Given the description of an element on the screen output the (x, y) to click on. 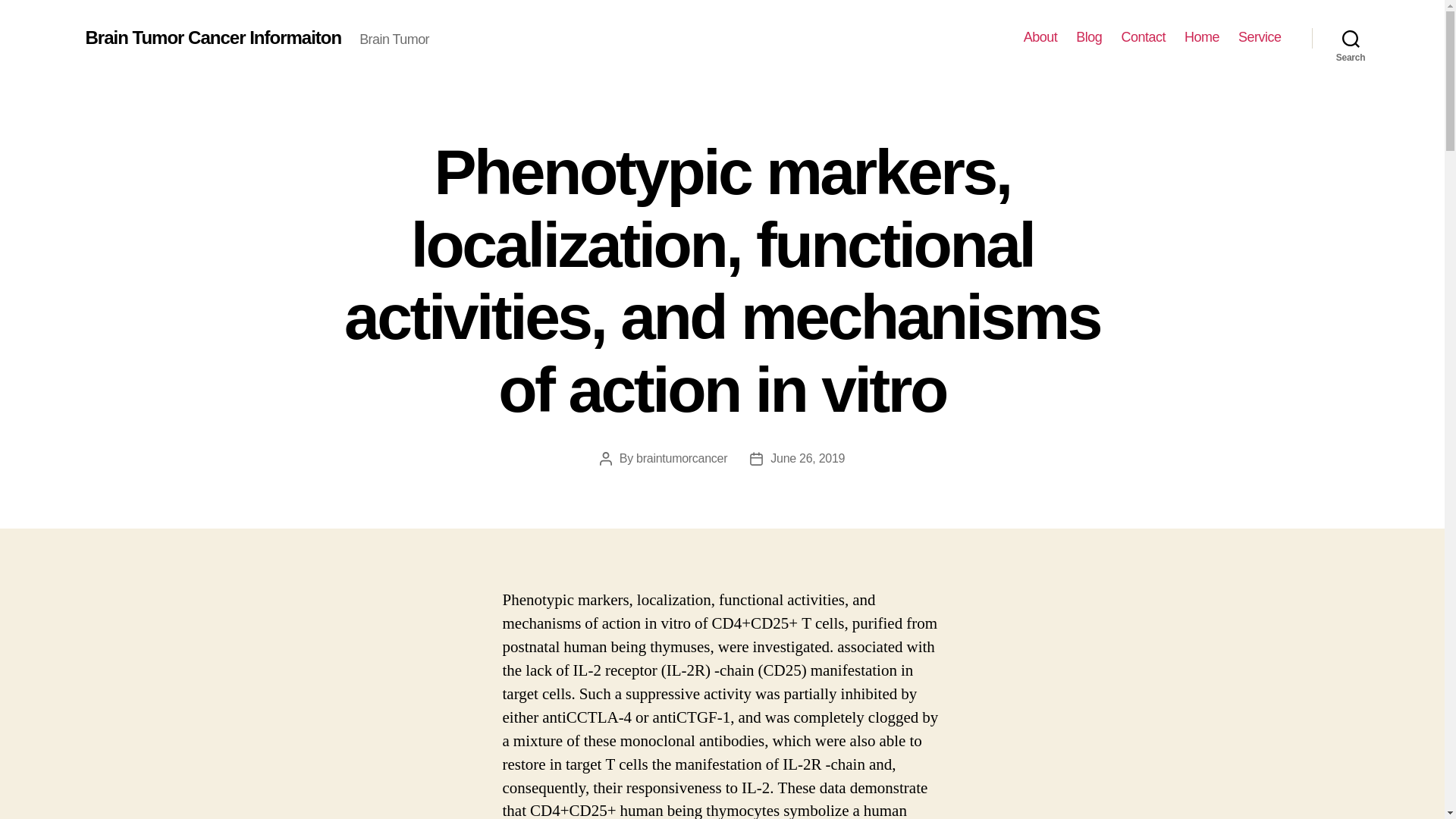
Blog (1088, 37)
About (1040, 37)
Contact (1143, 37)
Service (1260, 37)
June 26, 2019 (807, 458)
Search (1350, 37)
braintumorcancer (681, 458)
Home (1202, 37)
Brain Tumor Cancer Informaiton (212, 37)
